Given the description of an element on the screen output the (x, y) to click on. 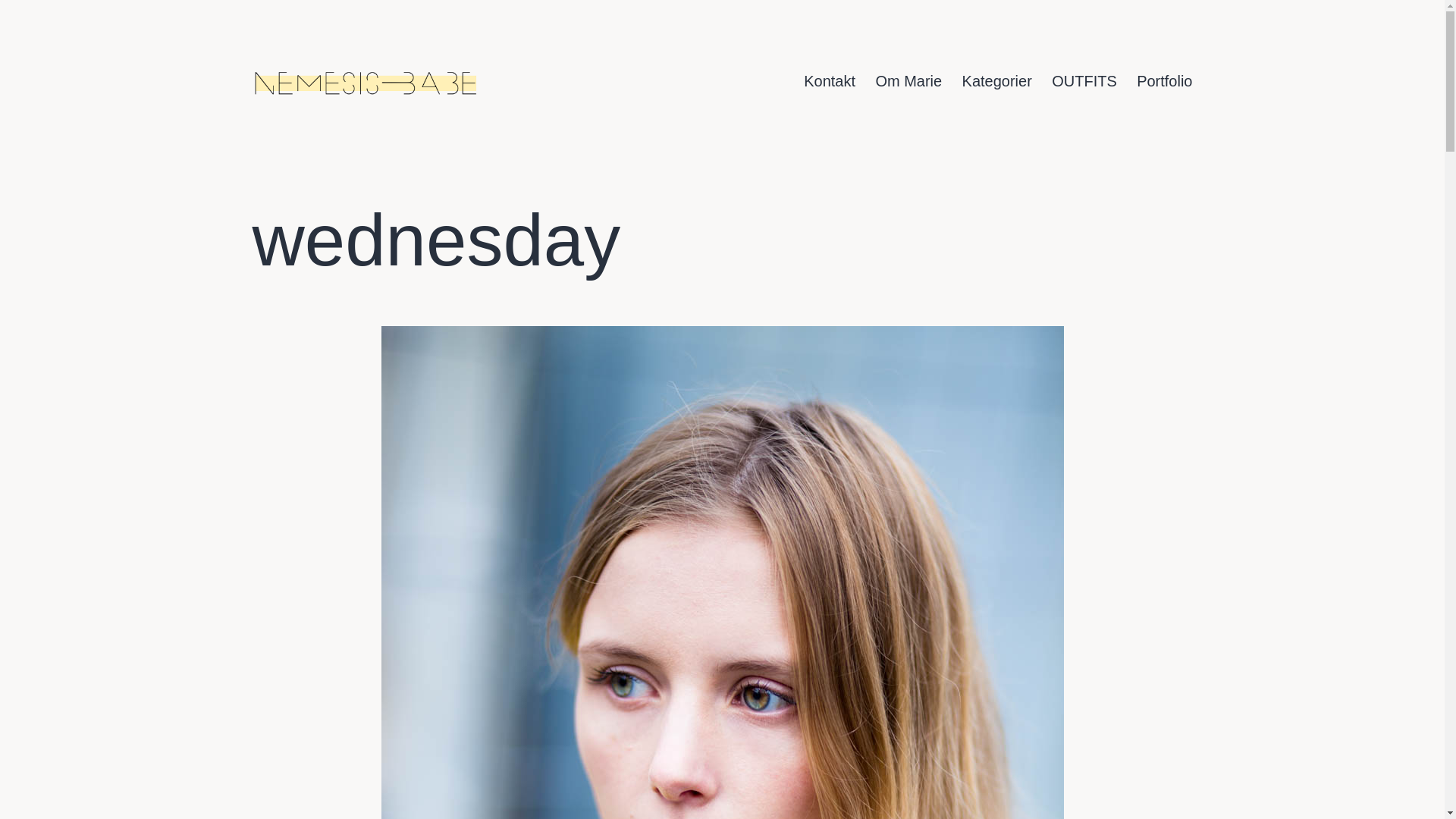
Om Marie (908, 81)
Kontakt (828, 81)
Portfolio (1164, 81)
OUTFITS (1084, 81)
Kategorier (997, 81)
